Given the description of an element on the screen output the (x, y) to click on. 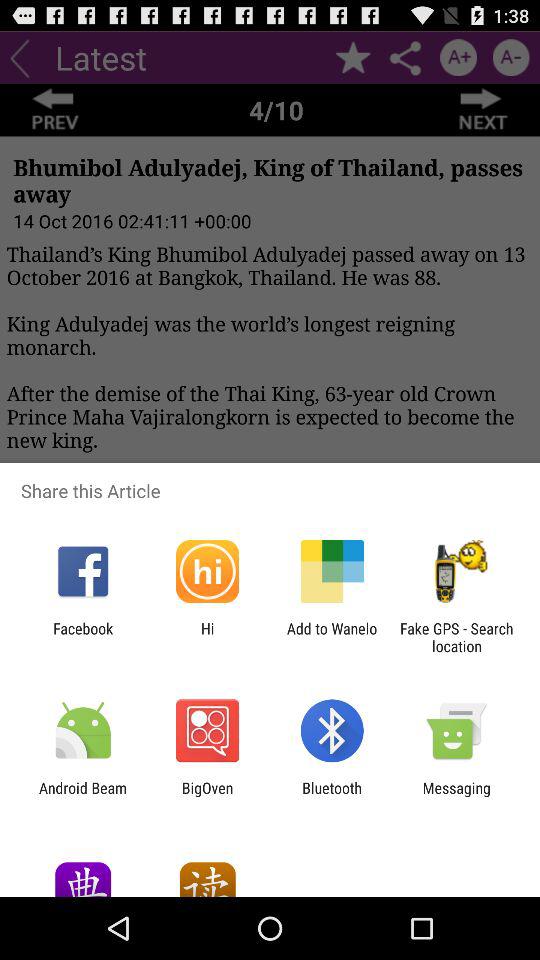
turn off bluetooth app (331, 796)
